Given the description of an element on the screen output the (x, y) to click on. 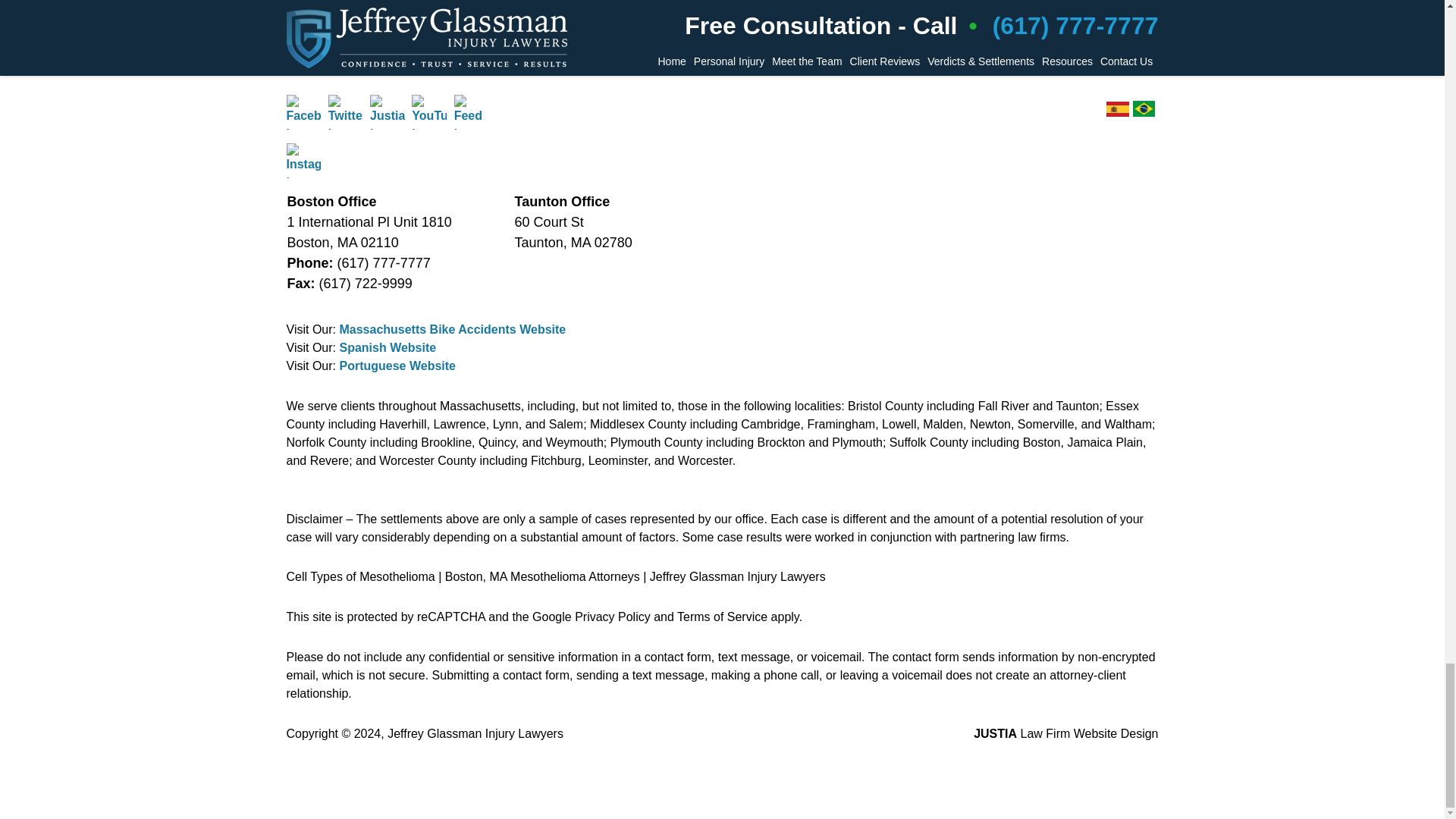
Facebook (303, 112)
Feed (471, 112)
Twitter (345, 112)
YouTube (429, 112)
Justia (386, 112)
Instagram (303, 160)
